Given the description of an element on the screen output the (x, y) to click on. 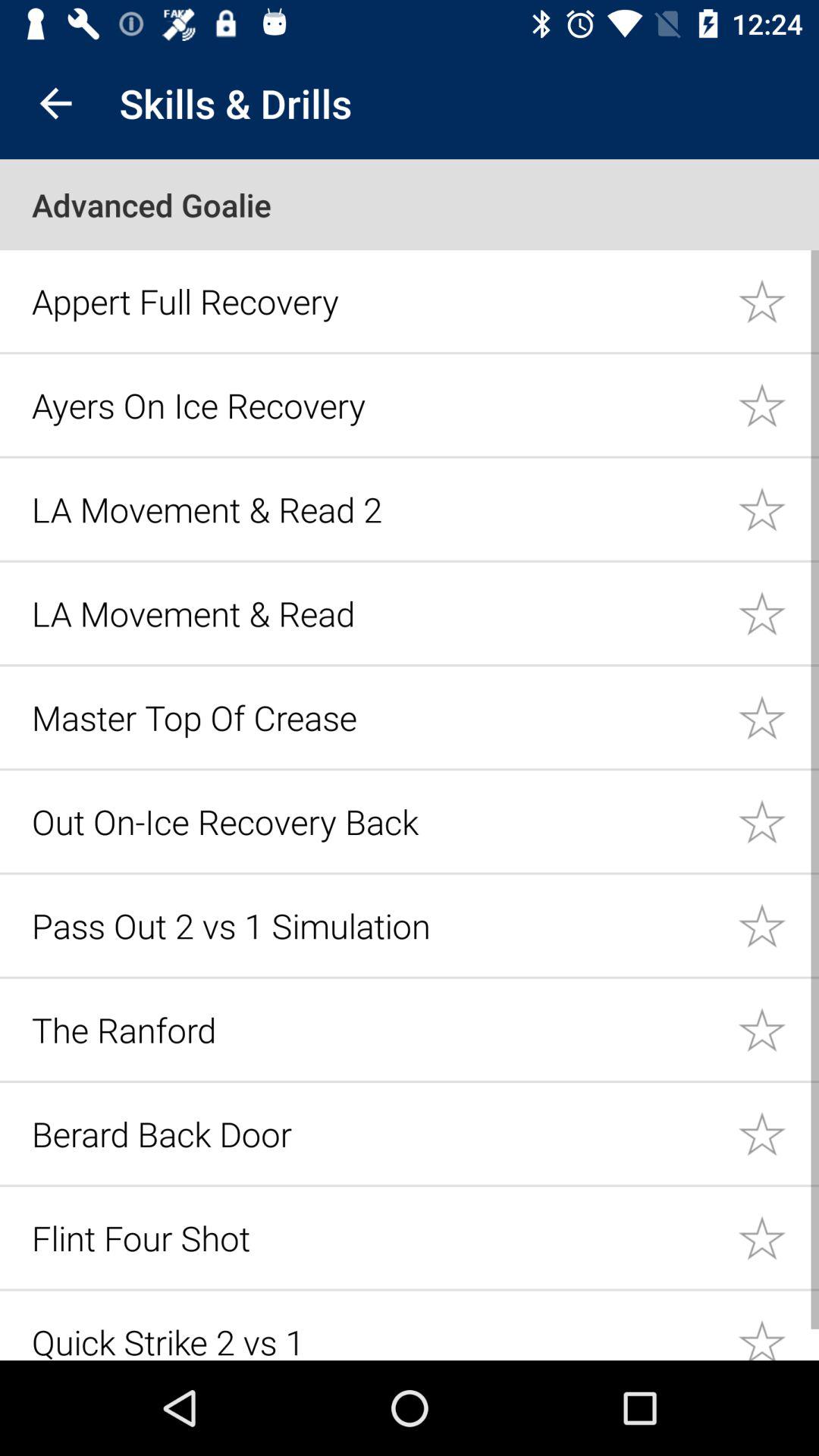
important star icon (778, 1029)
